Given the description of an element on the screen output the (x, y) to click on. 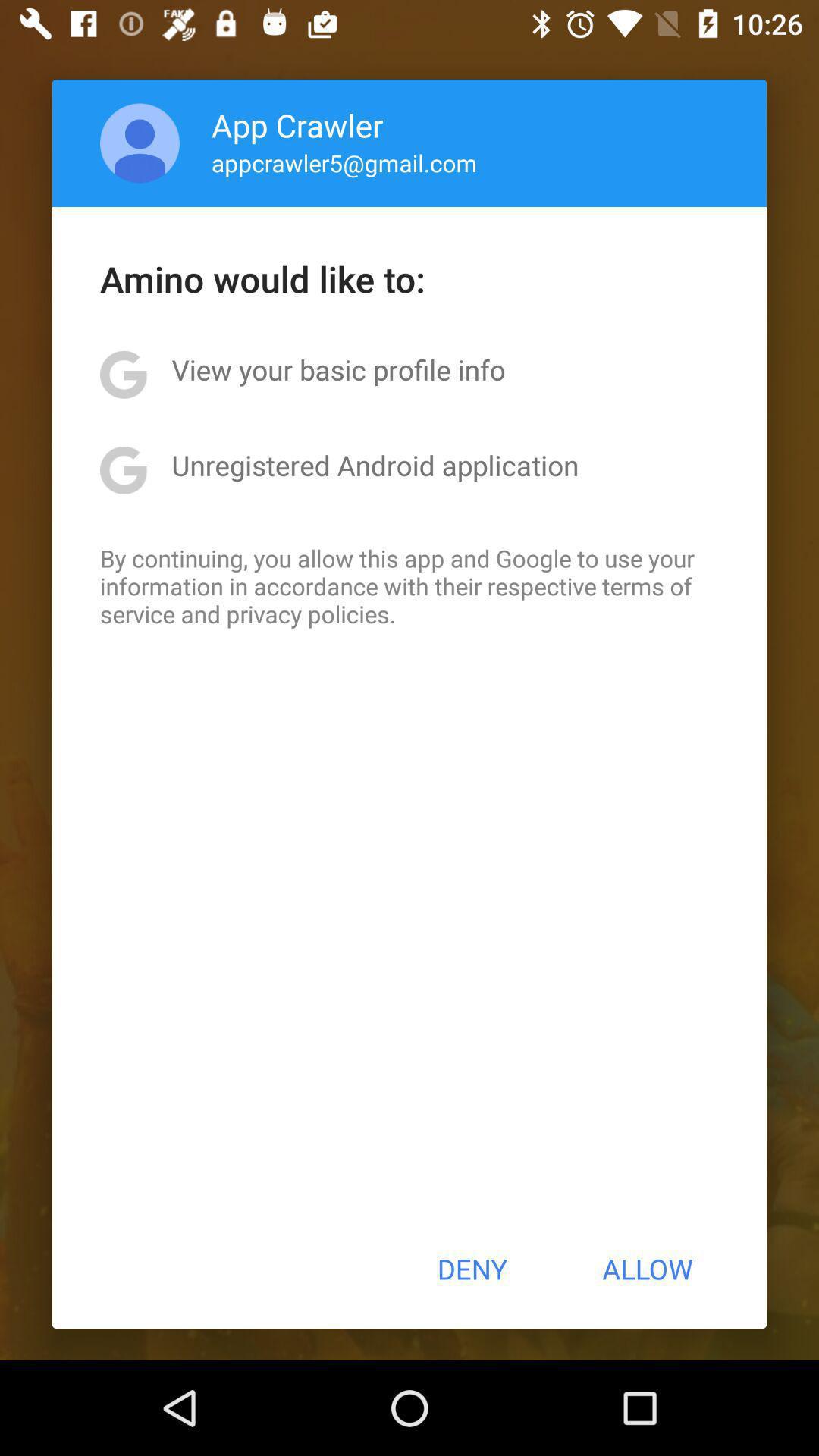
select the icon next to app crawler item (139, 143)
